Given the description of an element on the screen output the (x, y) to click on. 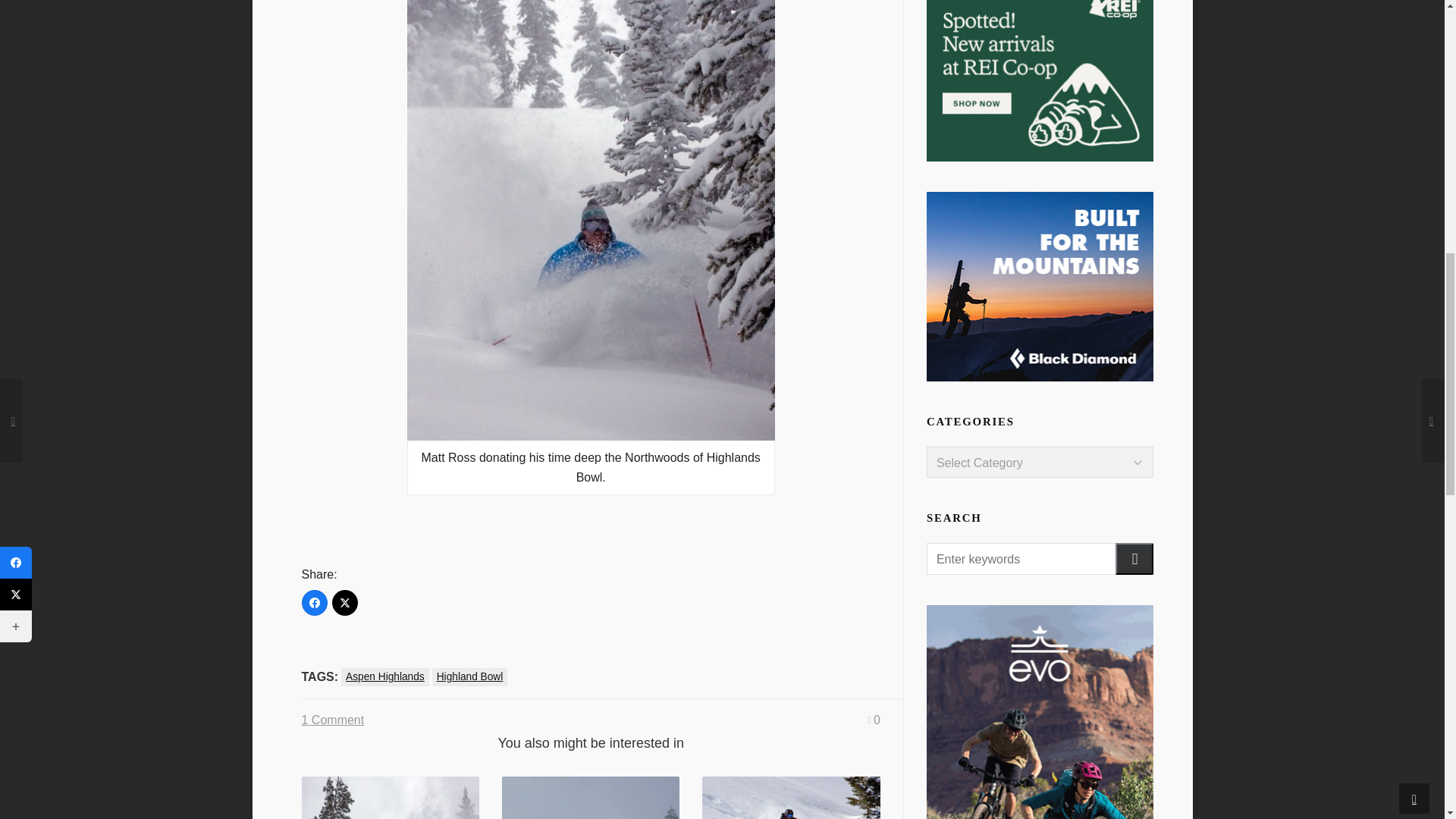
1 Comment (333, 720)
